Given the description of an element on the screen output the (x, y) to click on. 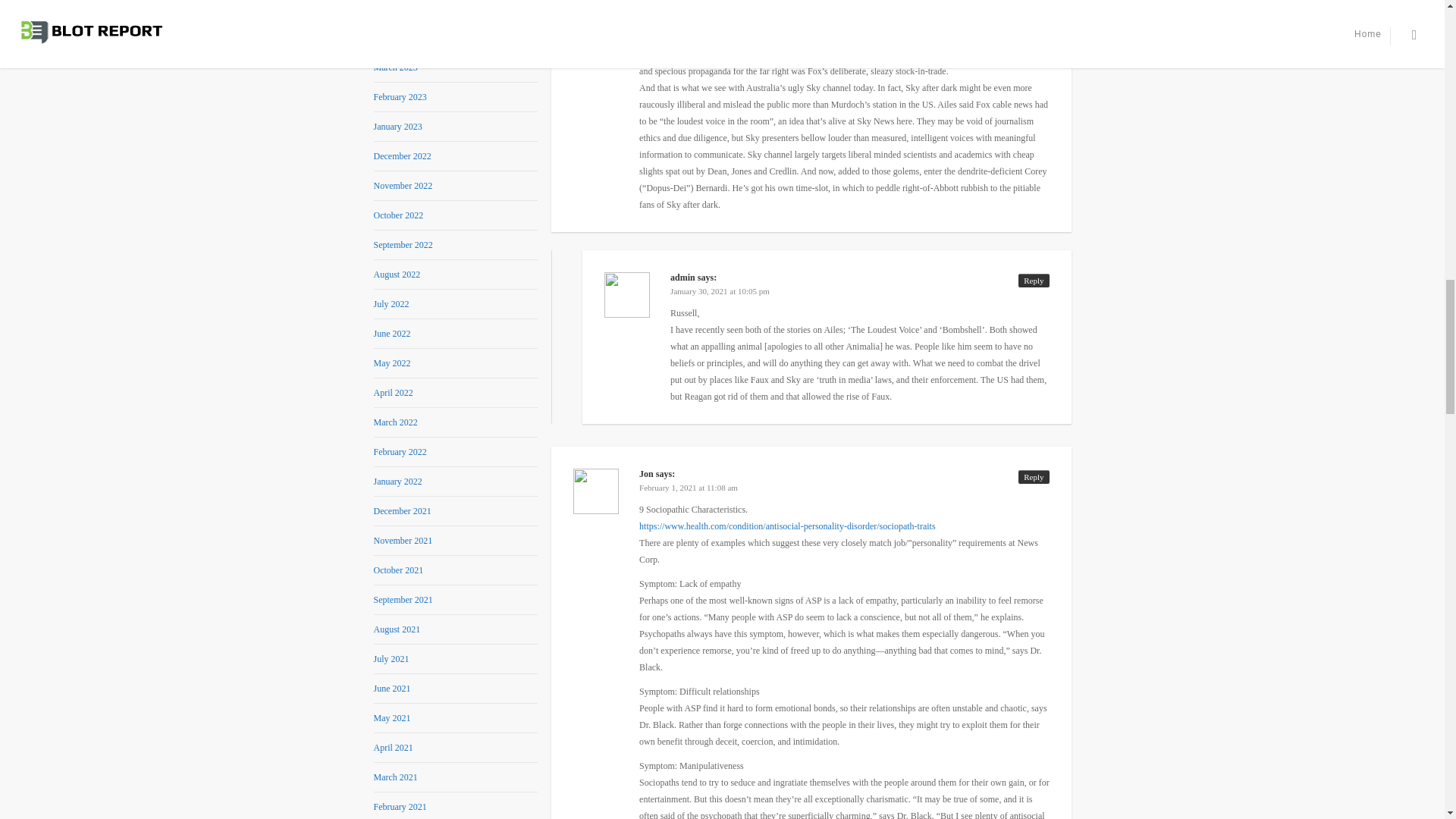
January 30, 2021 at 10:05 pm (719, 290)
February 1, 2021 at 11:08 am (688, 487)
Reply (1032, 280)
Reply (1032, 477)
